Given the description of an element on the screen output the (x, y) to click on. 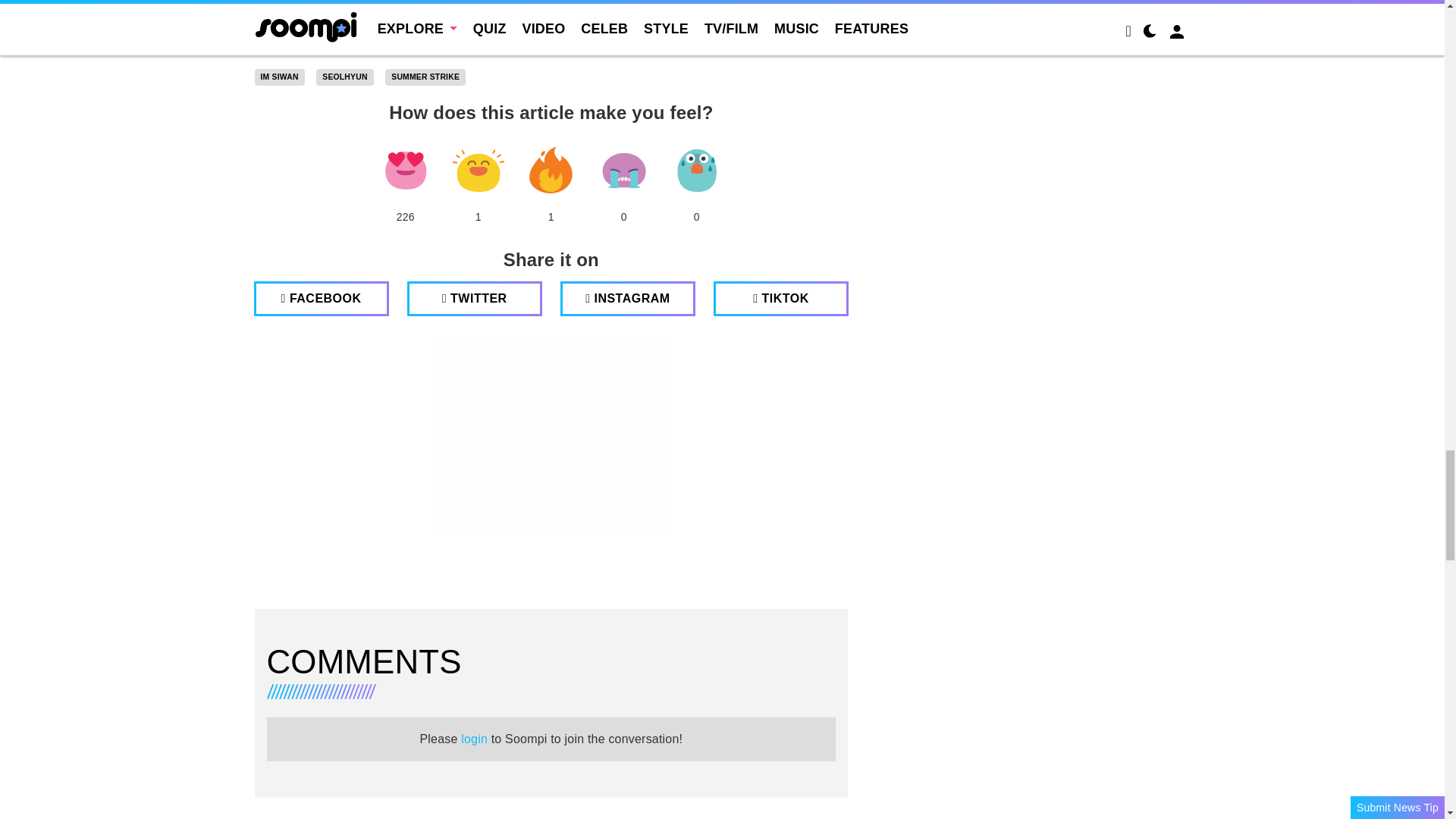
3rd party ad content (551, 434)
Seolhyun (343, 76)
Fire (550, 170)
OMG (696, 170)
SEOLHYUN (343, 76)
IM SIWAN (279, 76)
Heart (405, 170)
LOL (478, 170)
Im Siwan (279, 76)
Summer Strike (425, 76)
Crying (623, 170)
